Given the description of an element on the screen output the (x, y) to click on. 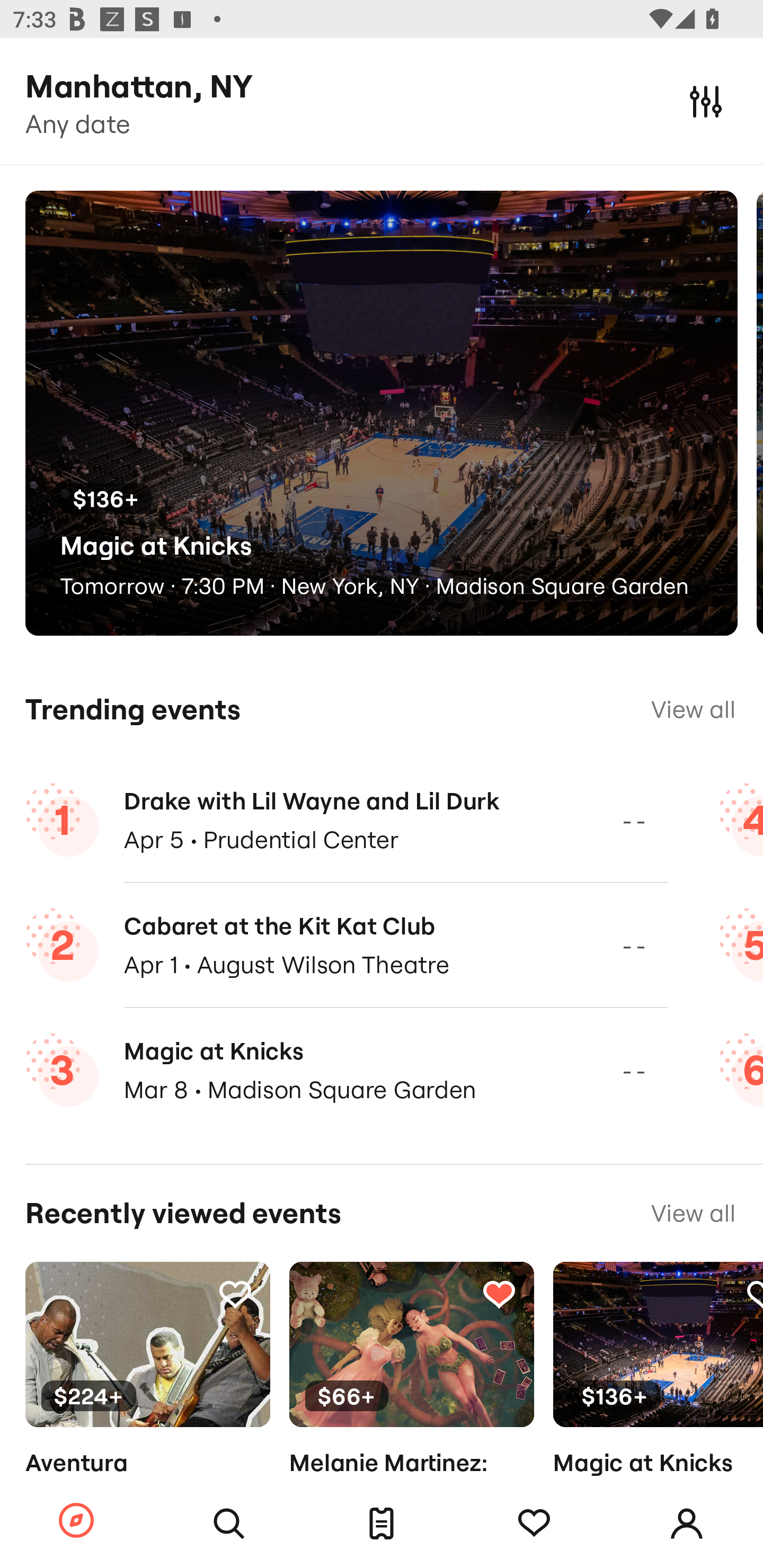
Filters (705, 100)
View all (693, 709)
View all (693, 1213)
Tracking $224+ Aventura Thu, May 30, 8 PM (147, 1399)
Tracking $136+ Magic at Knicks Tomorrow · 7:30 PM (658, 1399)
Tracking (234, 1293)
Tracking (498, 1293)
Browse (76, 1521)
Search (228, 1523)
Tickets (381, 1523)
Tracking (533, 1523)
Account (686, 1523)
